Given the description of an element on the screen output the (x, y) to click on. 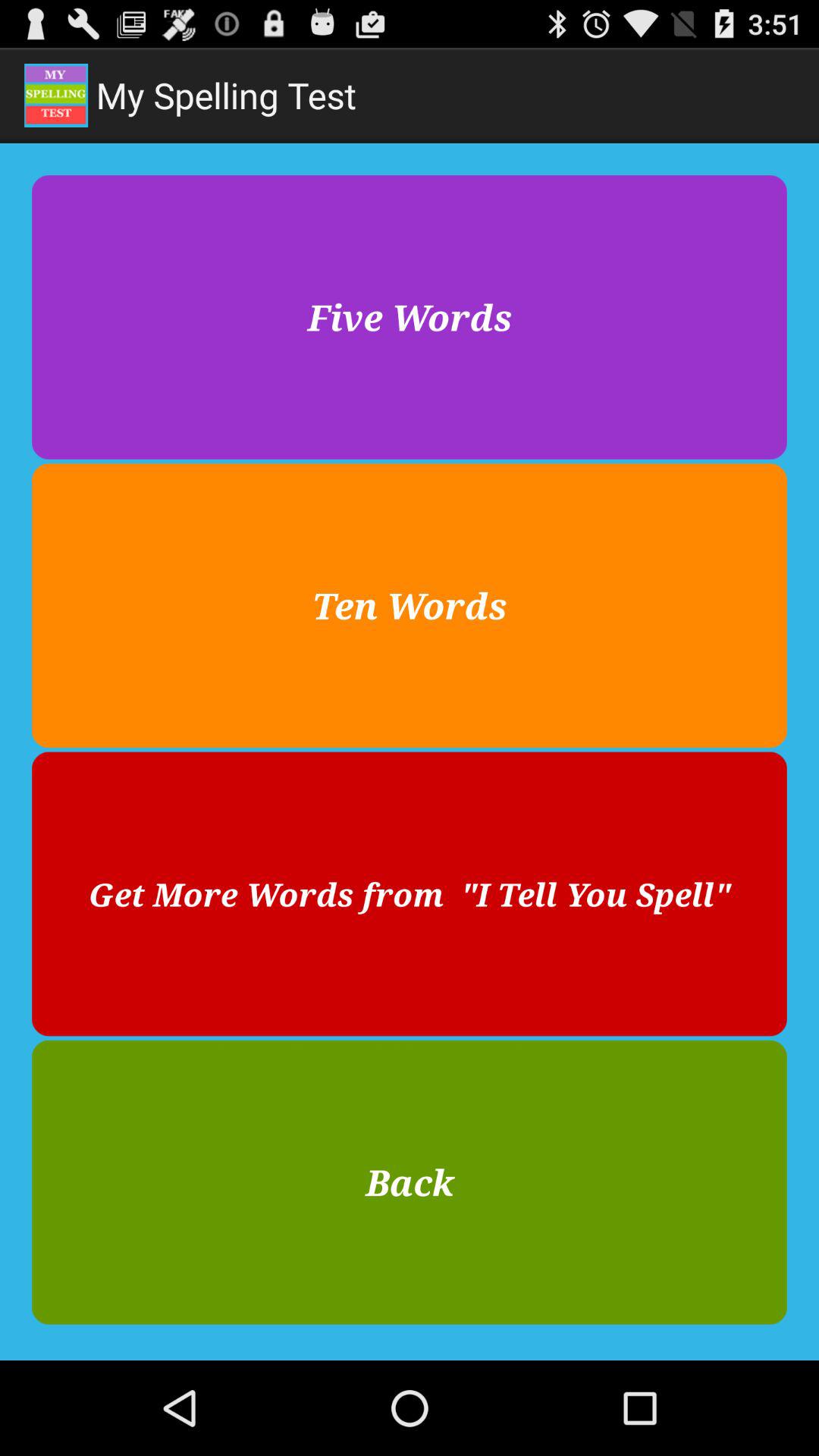
launch the get more words item (409, 893)
